Given the description of an element on the screen output the (x, y) to click on. 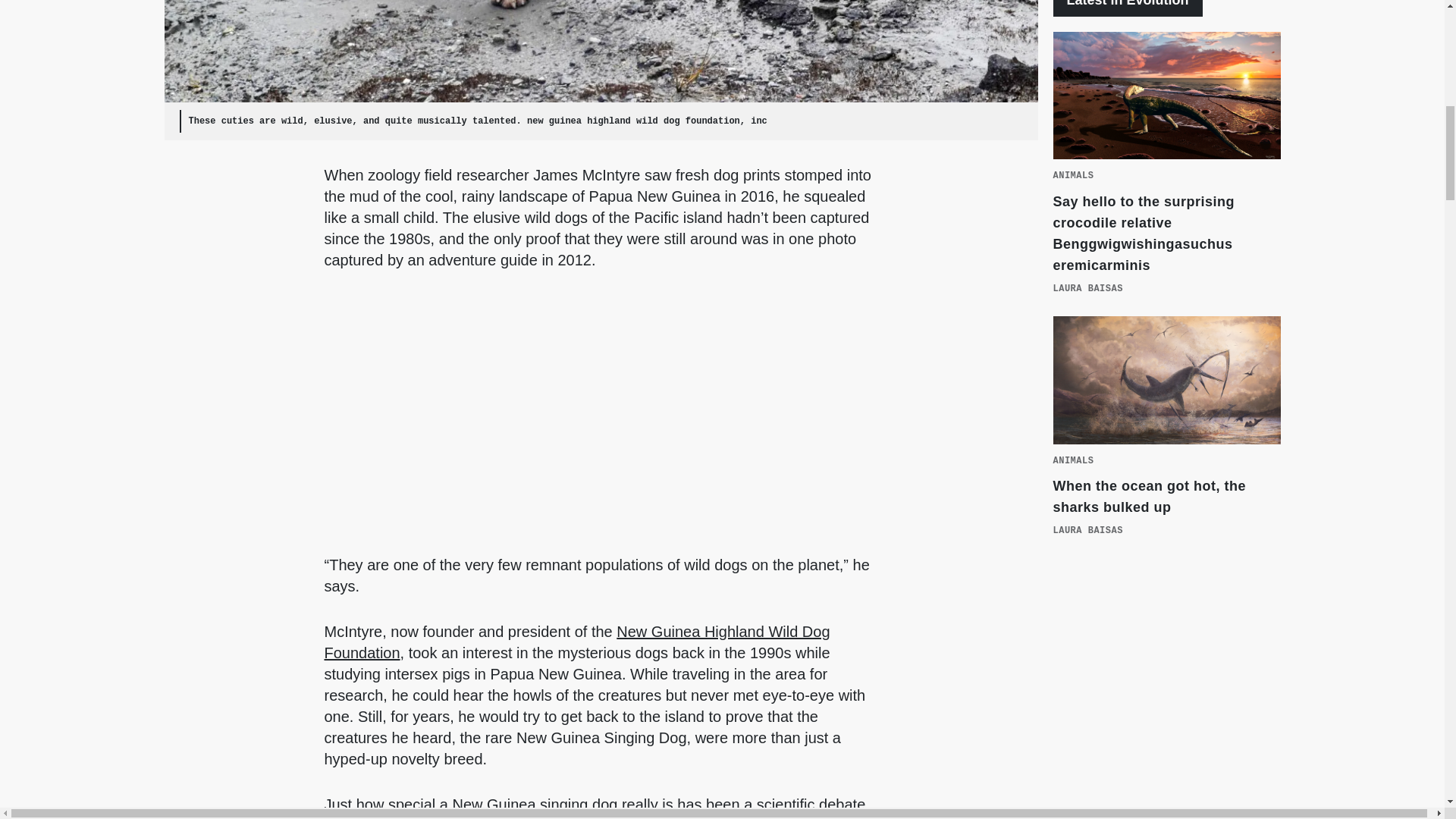
3rd party ad content (1165, 695)
